Given the description of an element on the screen output the (x, y) to click on. 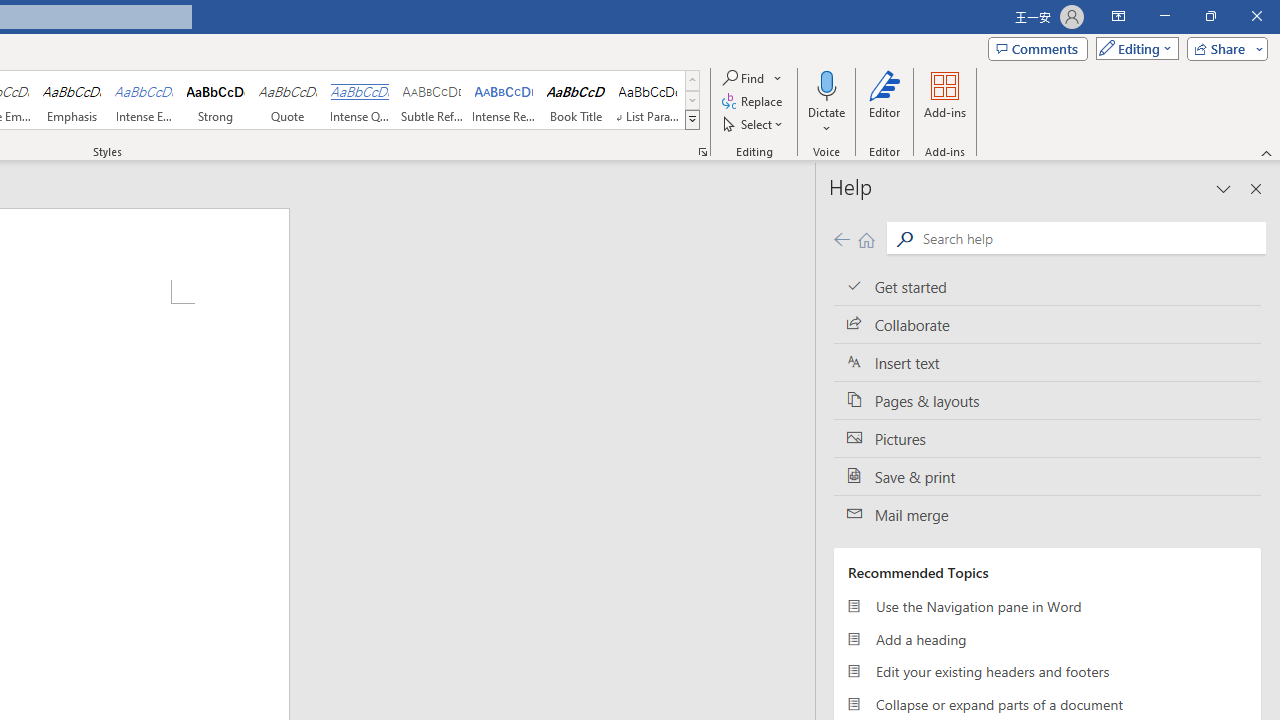
Intense Emphasis (143, 100)
Collapse or expand parts of a document (1047, 704)
Pictures (1047, 438)
Previous page (841, 238)
Get started (1047, 286)
Mail merge (1047, 515)
